Given the description of an element on the screen output the (x, y) to click on. 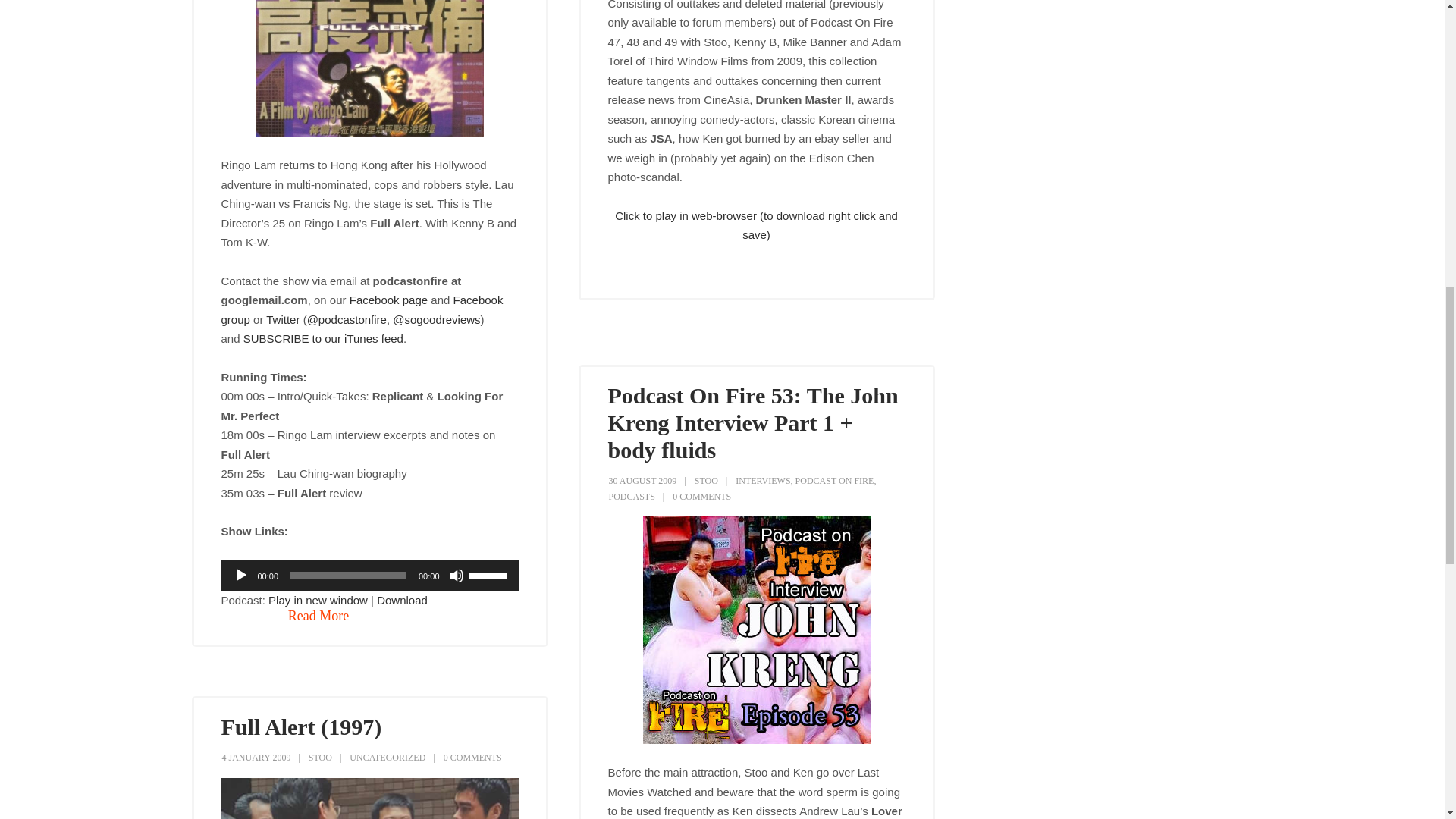
STOO (705, 480)
30 AUGUST 2009 (642, 480)
FullAlert (369, 798)
Play (240, 575)
Play in new window (317, 599)
Mute (456, 575)
Download (402, 599)
podcast53 (756, 629)
Facebook group (362, 309)
Read More (318, 616)
Play in new window (317, 599)
Download (402, 599)
PODCAST ON FIRE (834, 480)
PODCASTS (630, 496)
0 COMMENTS (701, 496)
